Given the description of an element on the screen output the (x, y) to click on. 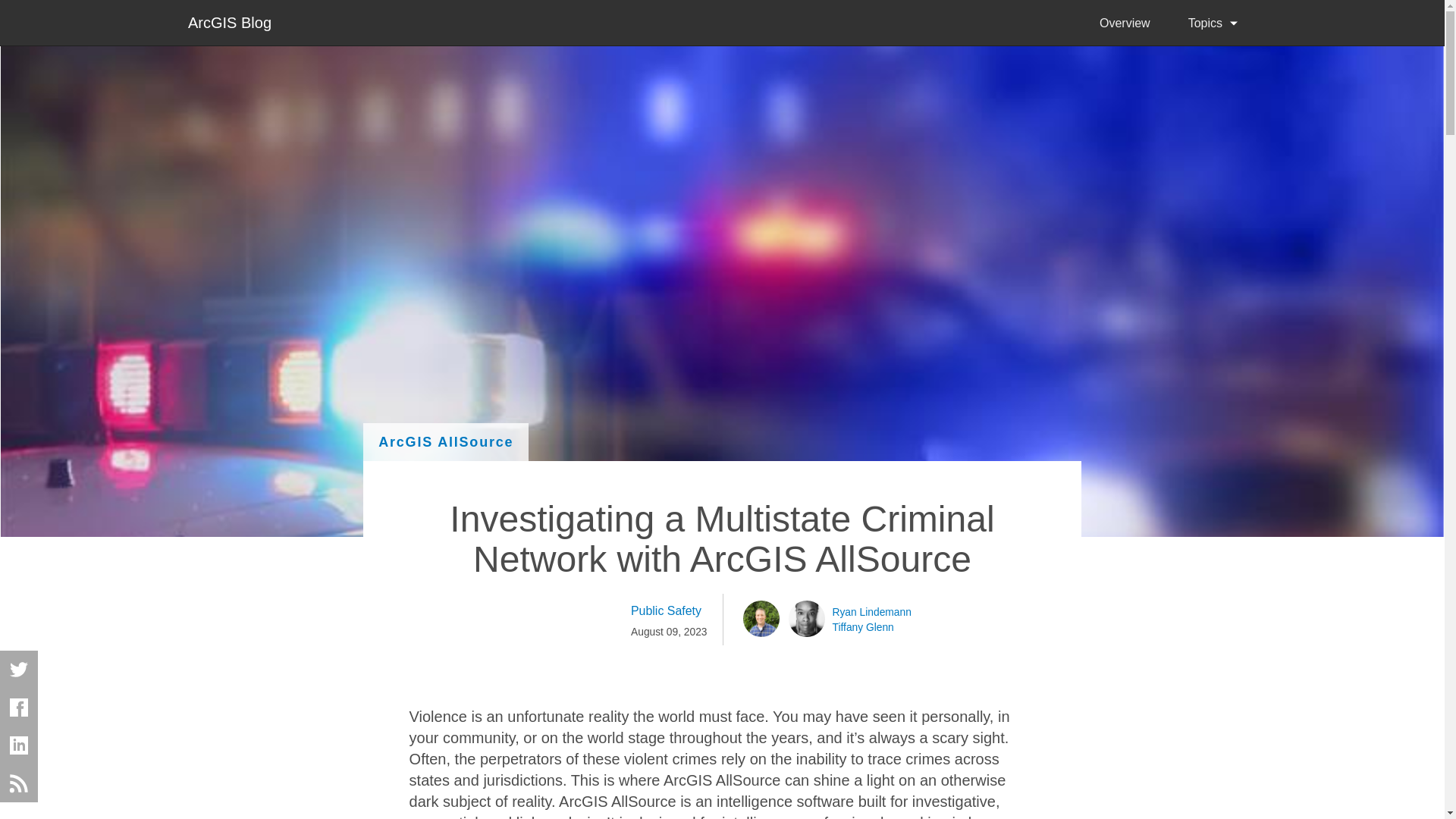
Topics (1212, 22)
ArcGIS AllSource (445, 442)
Tiffany Glenn (862, 626)
Public Safety (668, 610)
ArcGIS Blog (228, 21)
Overview (1124, 22)
Ryan Lindemann (871, 611)
